Given the description of an element on the screen output the (x, y) to click on. 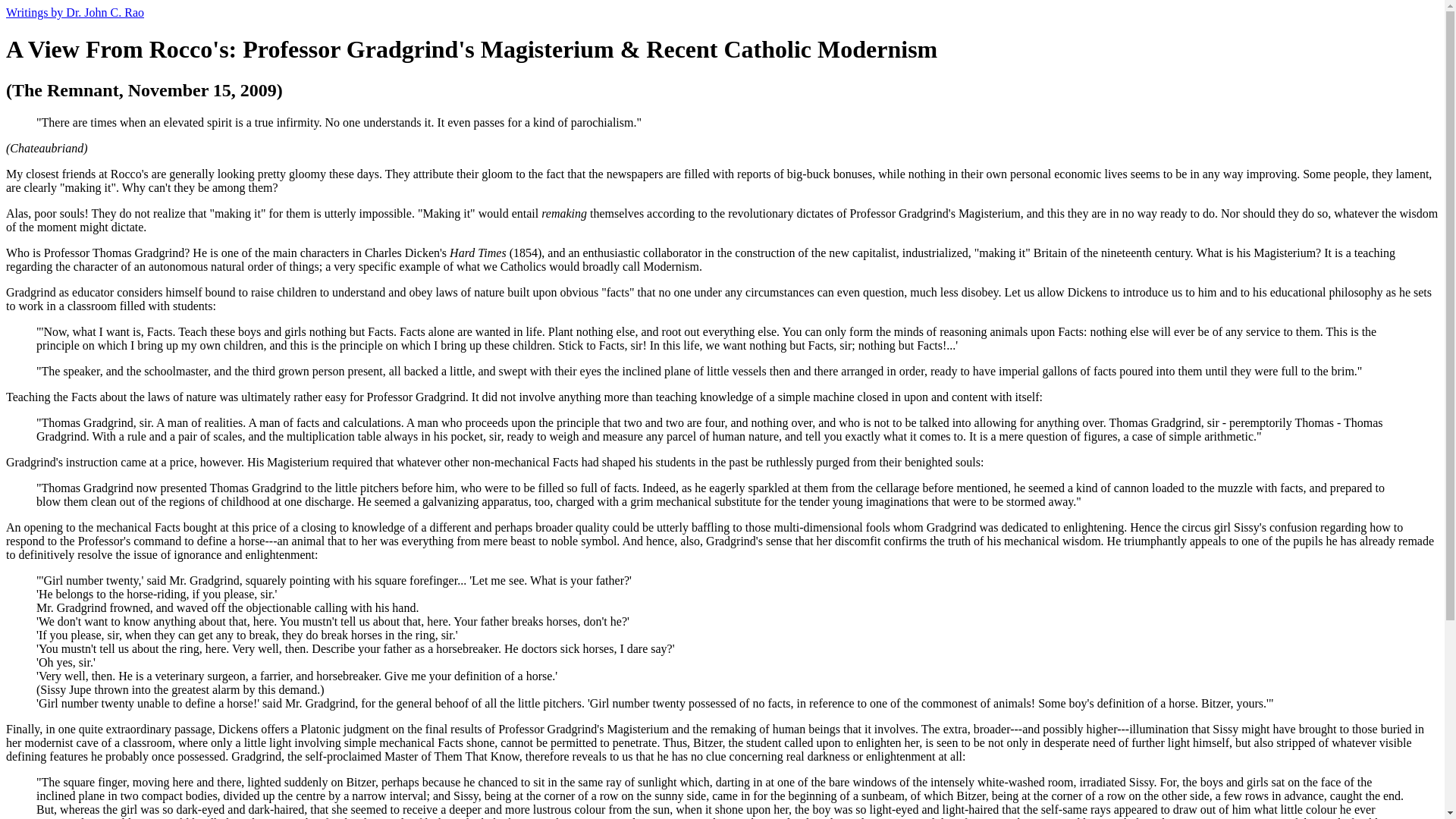
Writings by Dr. John C. Rao (74, 11)
